Given the description of an element on the screen output the (x, y) to click on. 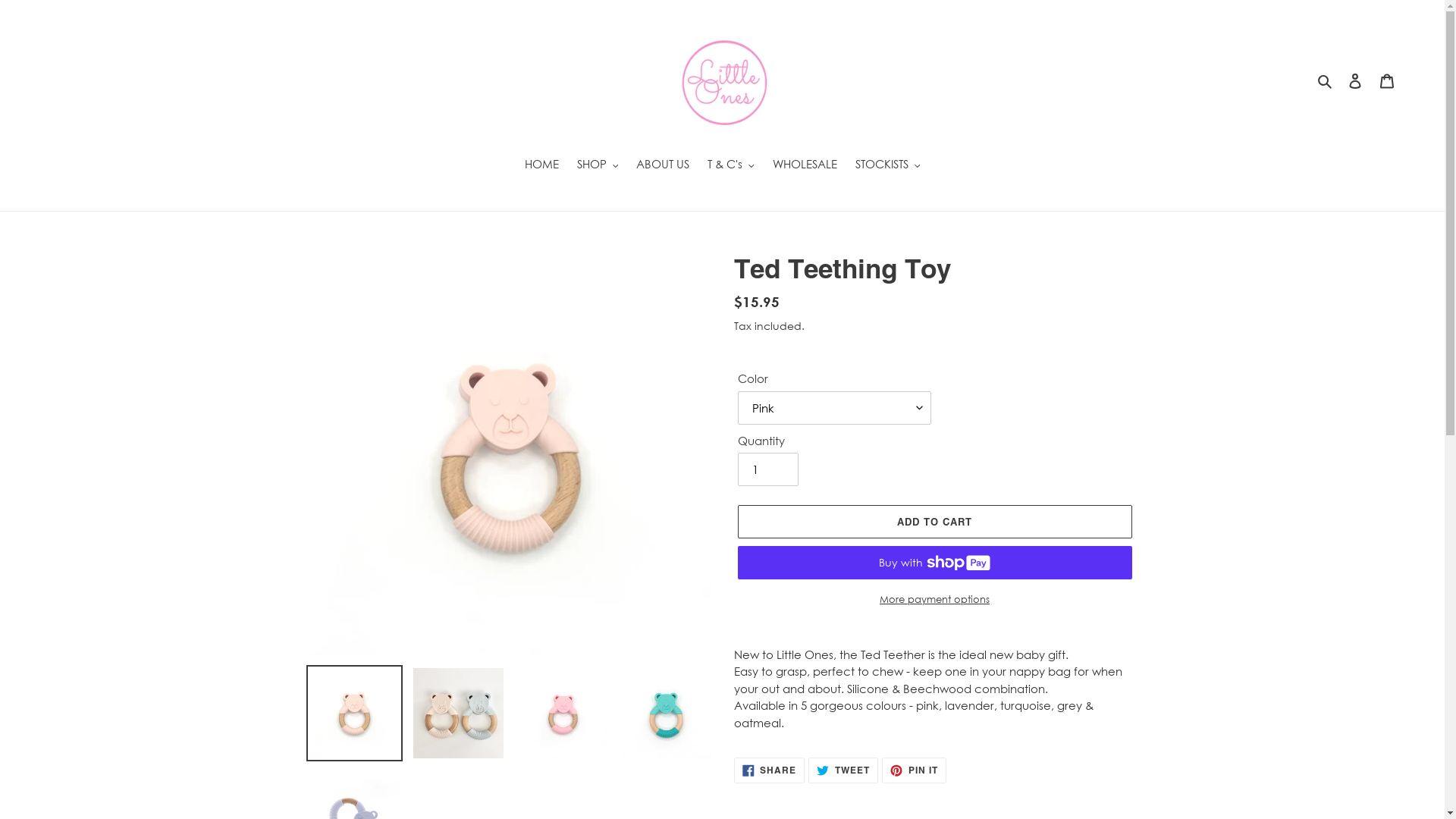
ABOUT US Element type: text (662, 165)
T & C's Element type: text (730, 165)
WHOLESALE Element type: text (804, 165)
ADD TO CART Element type: text (934, 521)
More payment options Element type: text (934, 599)
SHARE
SHARE ON FACEBOOK Element type: text (769, 770)
HOME Element type: text (541, 165)
SHOP Element type: text (597, 165)
Search Element type: text (1325, 78)
Cart Element type: text (1386, 78)
TWEET
TWEET ON TWITTER Element type: text (843, 770)
PIN IT
PIN ON PINTEREST Element type: text (913, 770)
Log in Element type: text (1355, 78)
STOCKISTS Element type: text (887, 165)
